Given the description of an element on the screen output the (x, y) to click on. 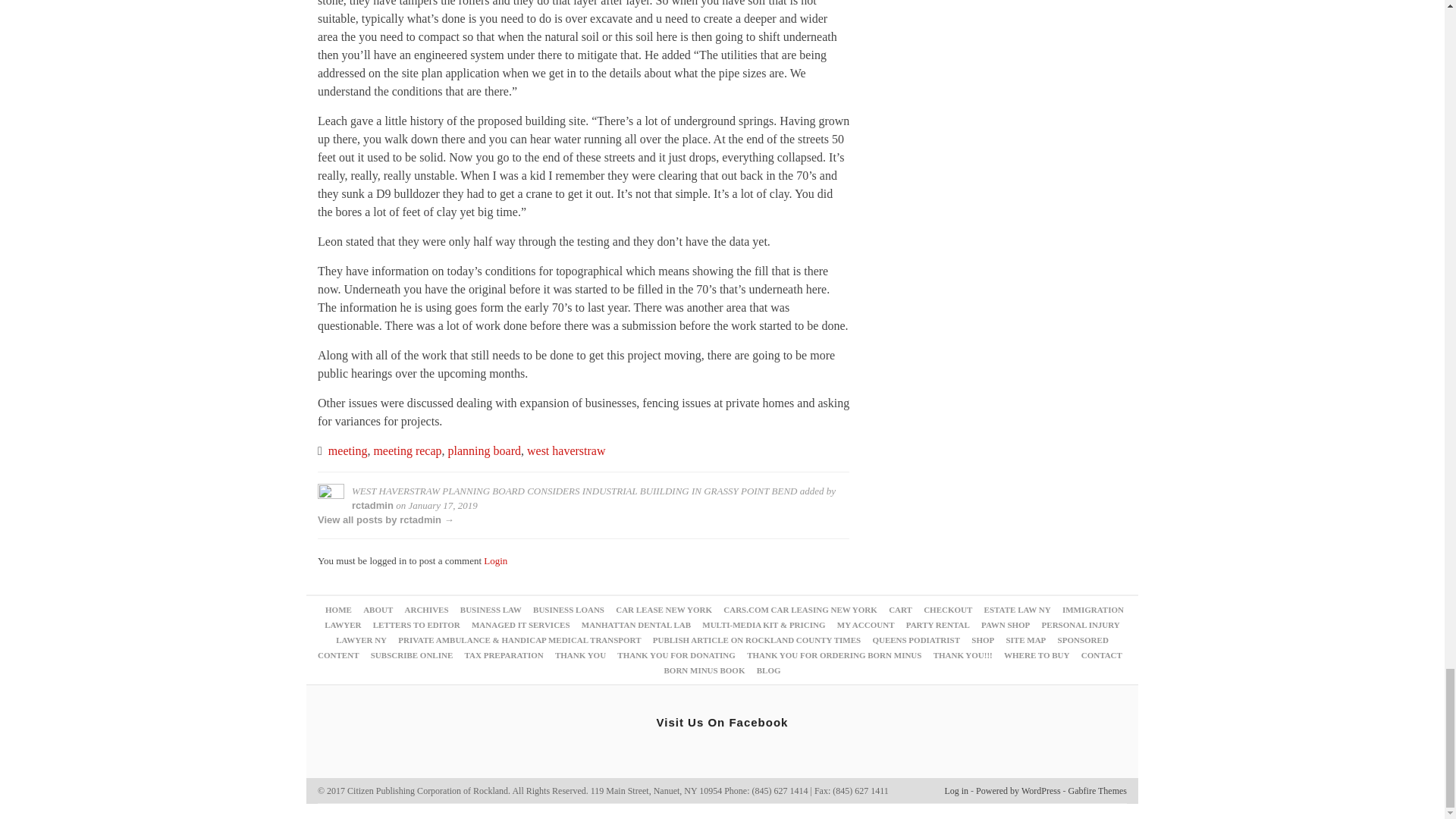
planning board (484, 450)
WordPress Newspaper Themes (1097, 790)
Semantic Personal Publishing Platform (1017, 790)
meeting (348, 450)
west haverstraw (566, 450)
meeting recap (406, 450)
